Given the description of an element on the screen output the (x, y) to click on. 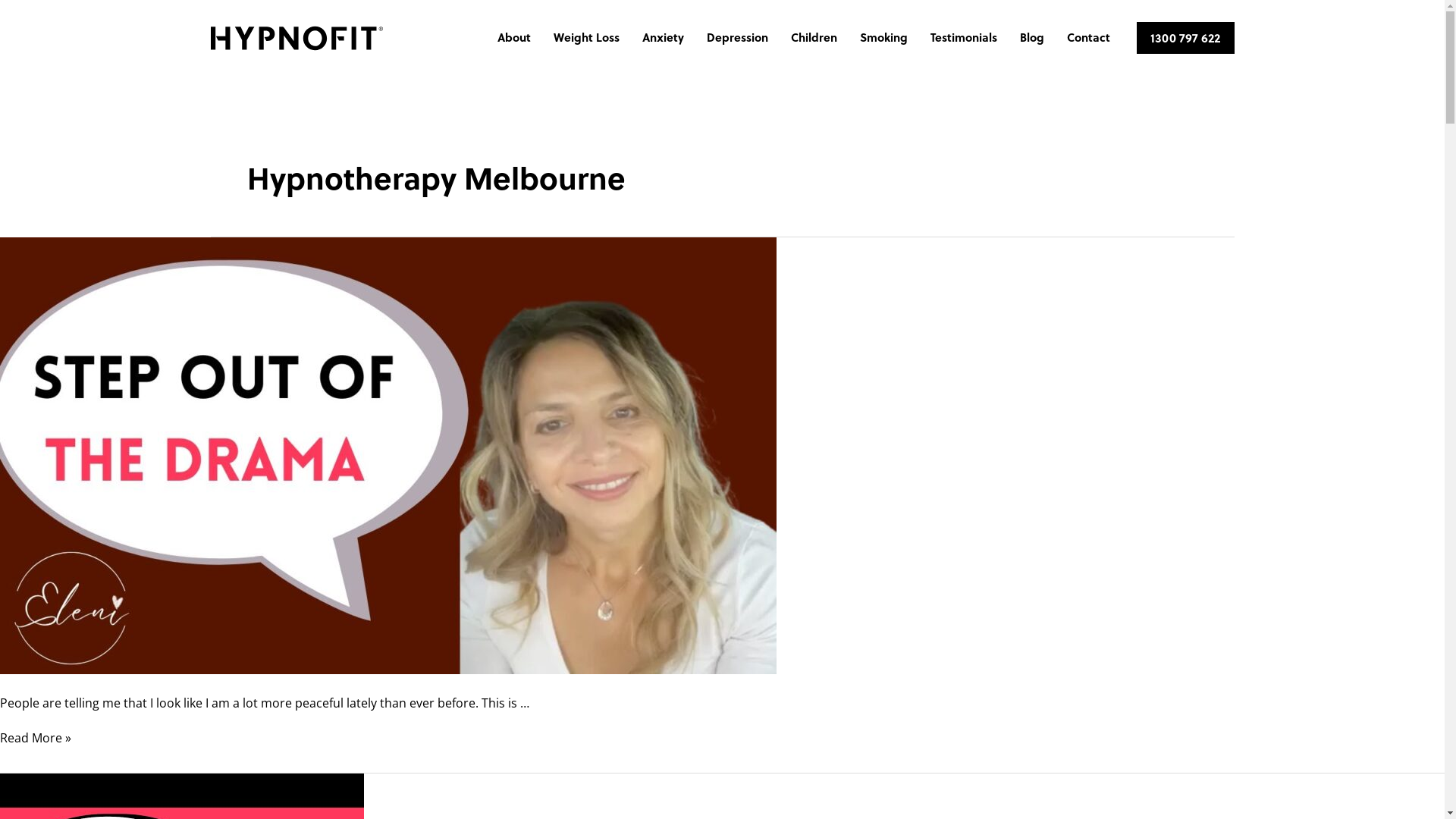
About Element type: text (514, 37)
1300 797 622 Element type: text (1184, 37)
Blog Element type: text (1031, 37)
Depression Element type: text (737, 37)
Testimonials Element type: text (963, 37)
Children Element type: text (813, 37)
Smoking Element type: text (883, 37)
Weight Loss Element type: text (586, 37)
Anxiety Element type: text (662, 37)
Contact Element type: text (1088, 37)
